Given the description of an element on the screen output the (x, y) to click on. 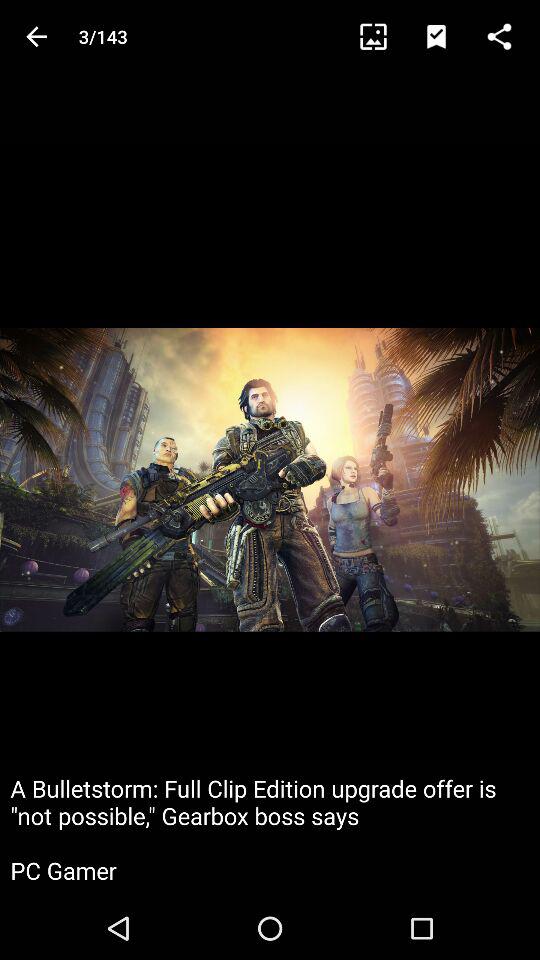
movie privious step (36, 36)
